Given the description of an element on the screen output the (x, y) to click on. 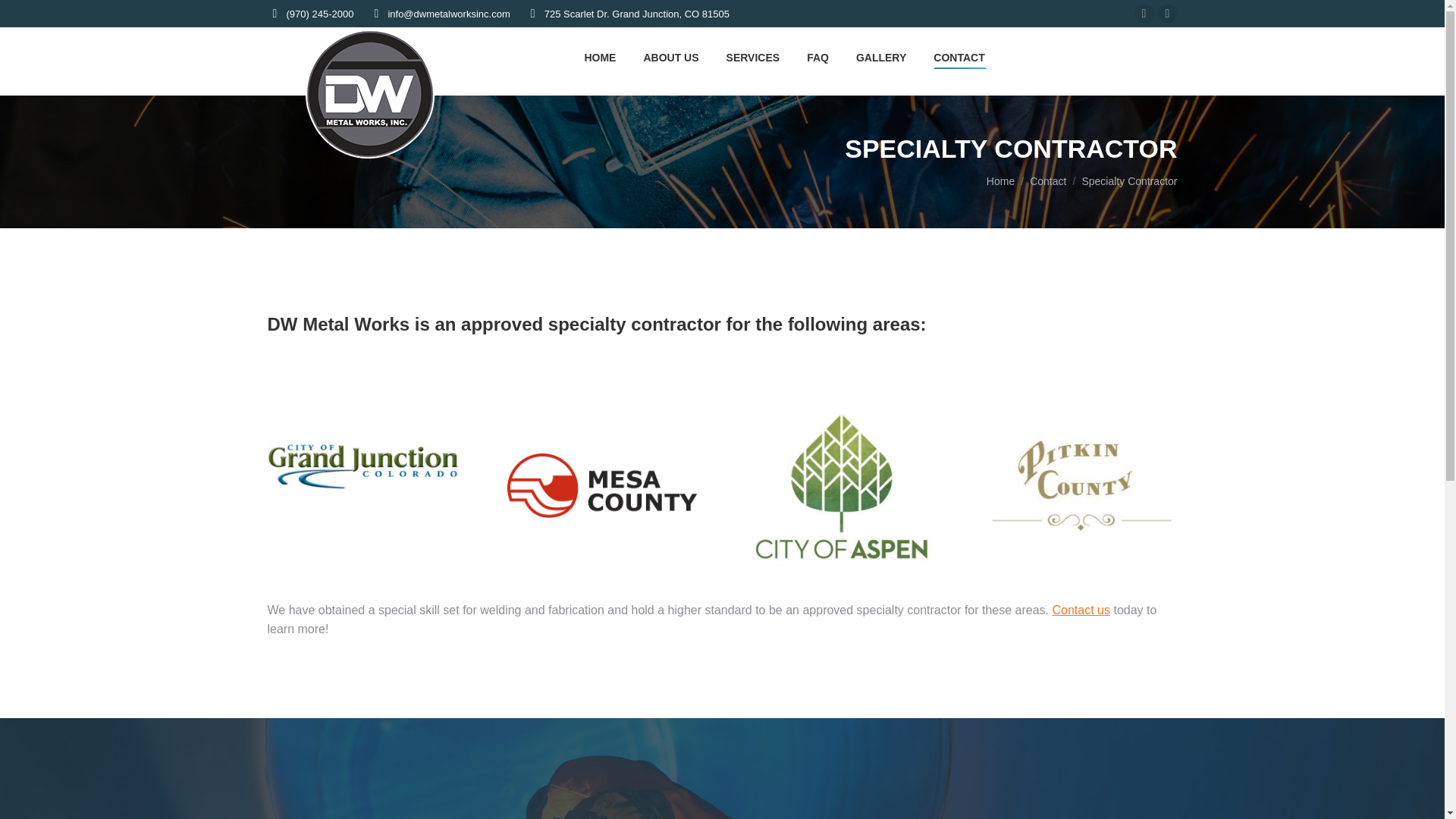
Instagram page opens in new window (1166, 13)
Go! (24, 16)
CONTACT (958, 57)
Facebook page opens in new window (1144, 13)
SERVICES (753, 57)
Facebook page opens in new window (1144, 13)
HOME (599, 57)
Instagram page opens in new window (1166, 13)
ABOUT US (670, 57)
GALLERY (880, 57)
